Given the description of an element on the screen output the (x, y) to click on. 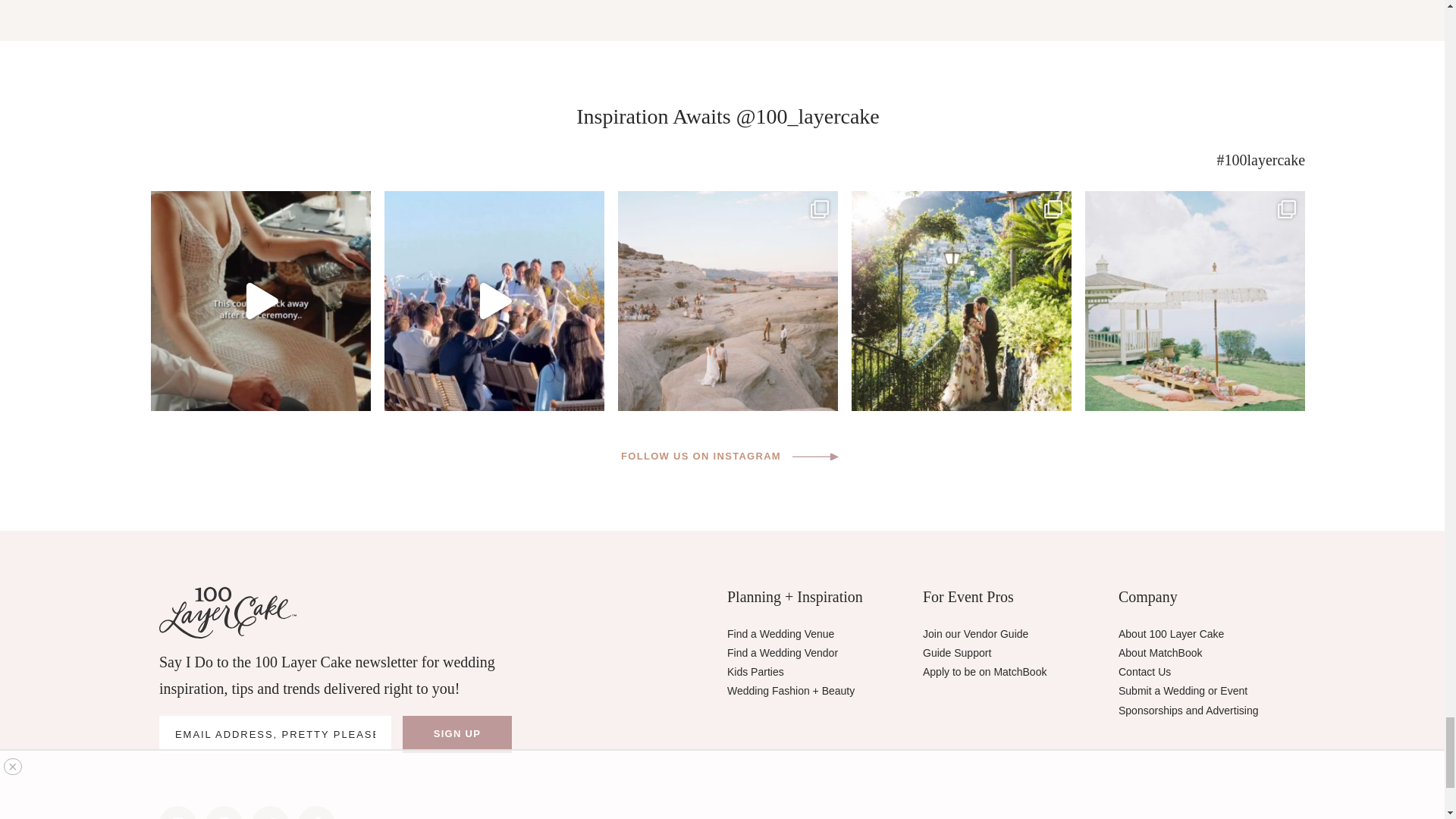
Sign Up (457, 733)
